Given the description of an element on the screen output the (x, y) to click on. 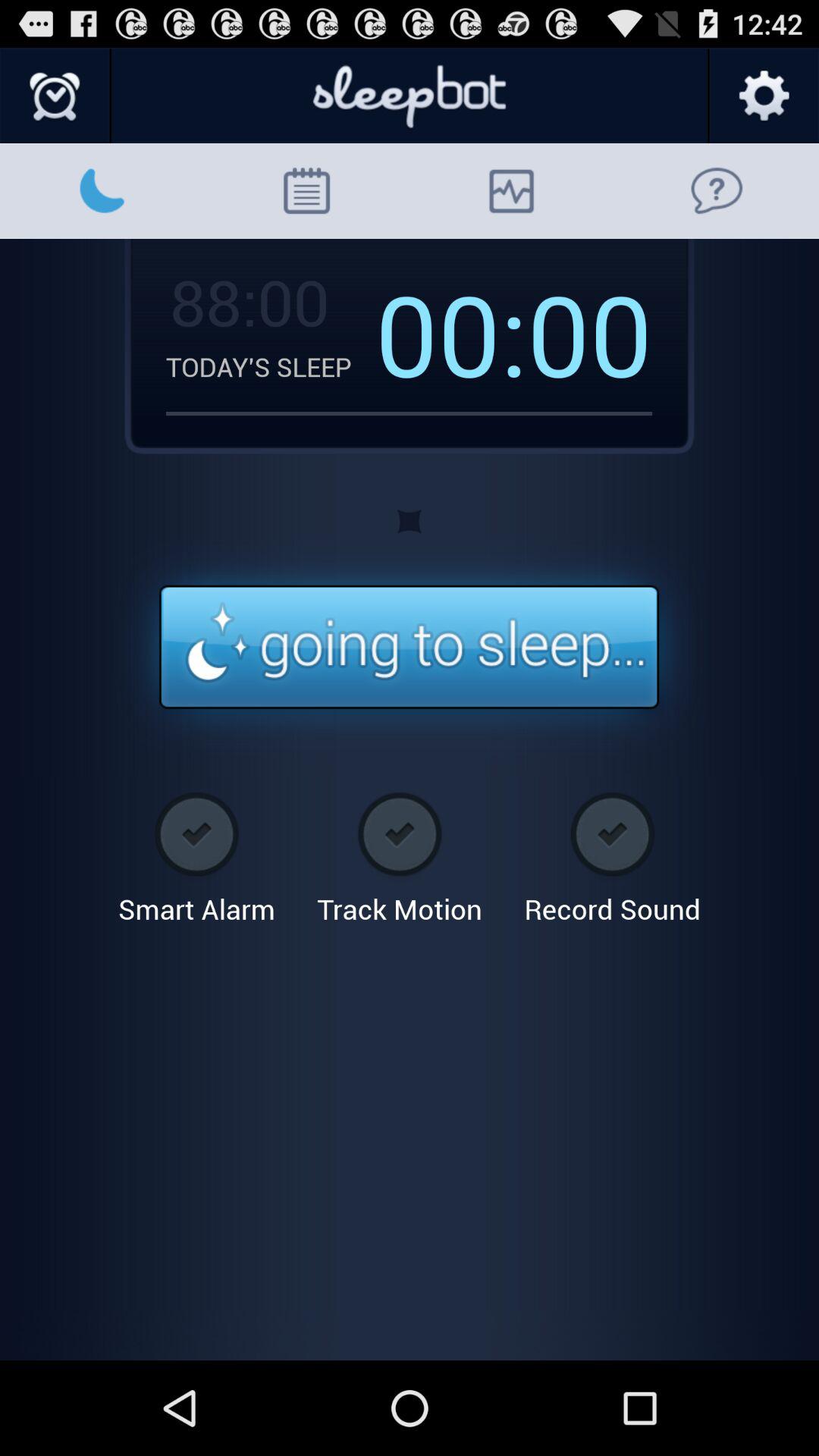
start tracking sleep (408, 647)
